Given the description of an element on the screen output the (x, y) to click on. 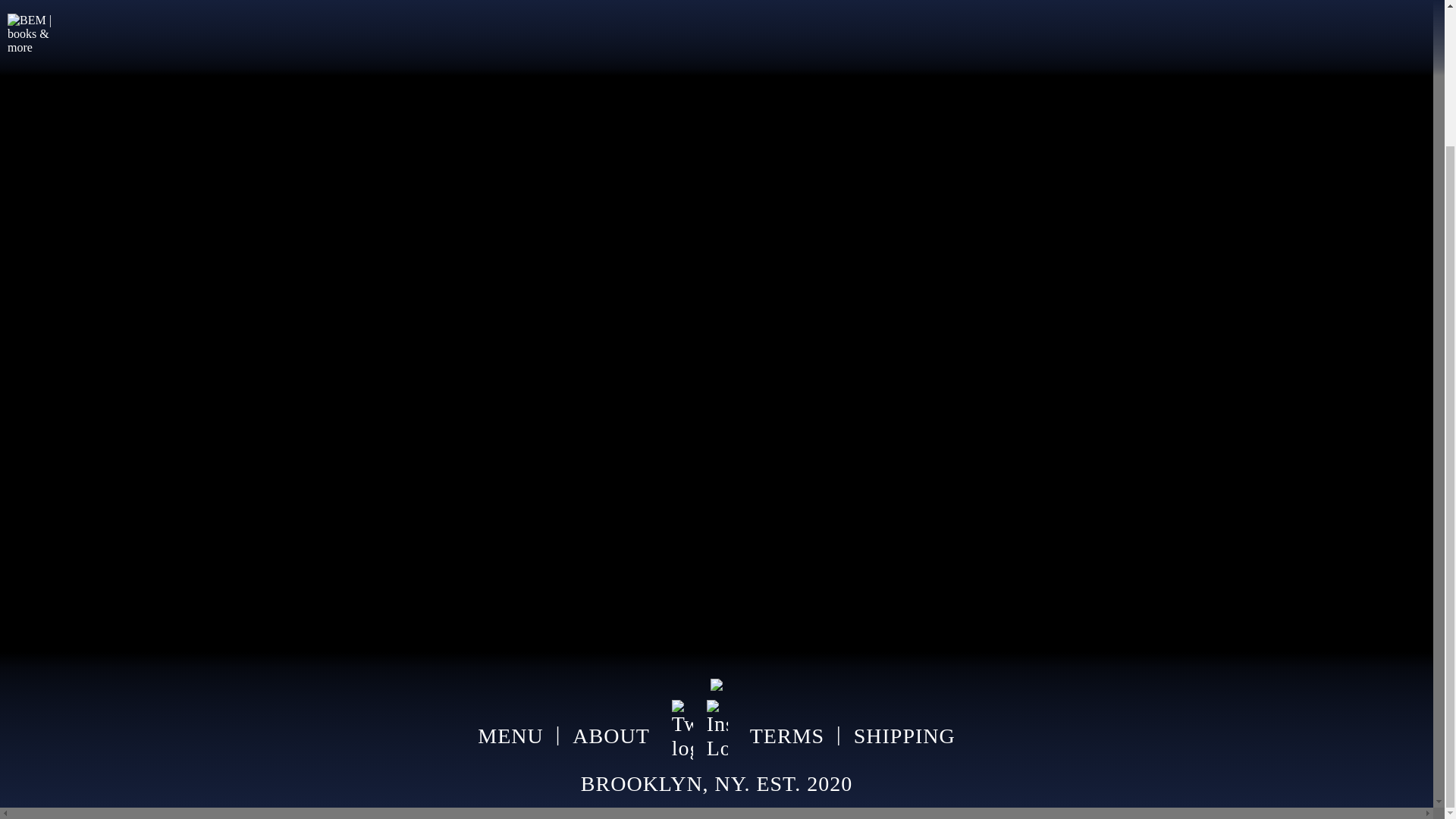
TERMS (786, 734)
SHIPPING (904, 734)
ABOUT (610, 734)
MENU (510, 735)
